Given the description of an element on the screen output the (x, y) to click on. 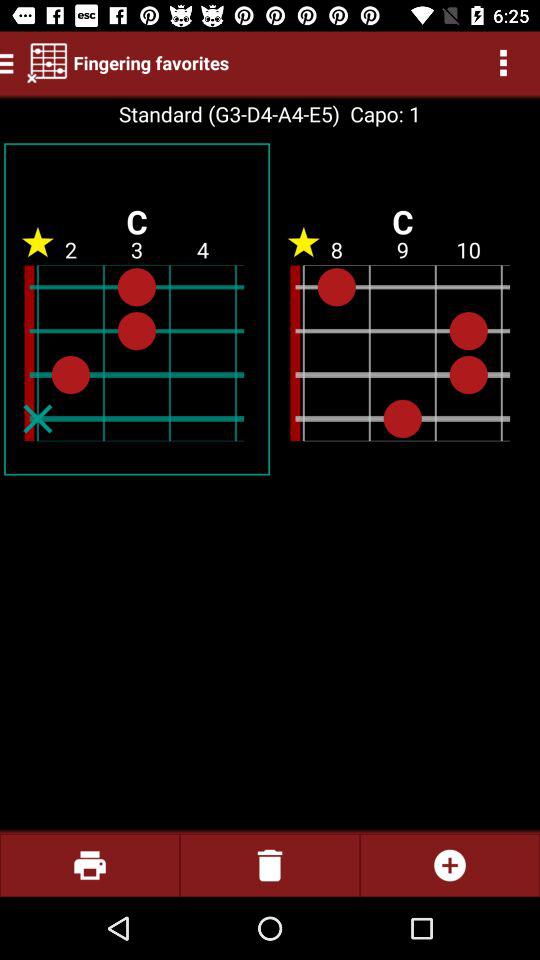
select the icon next to the   capo: 1 item (228, 113)
